Given the description of an element on the screen output the (x, y) to click on. 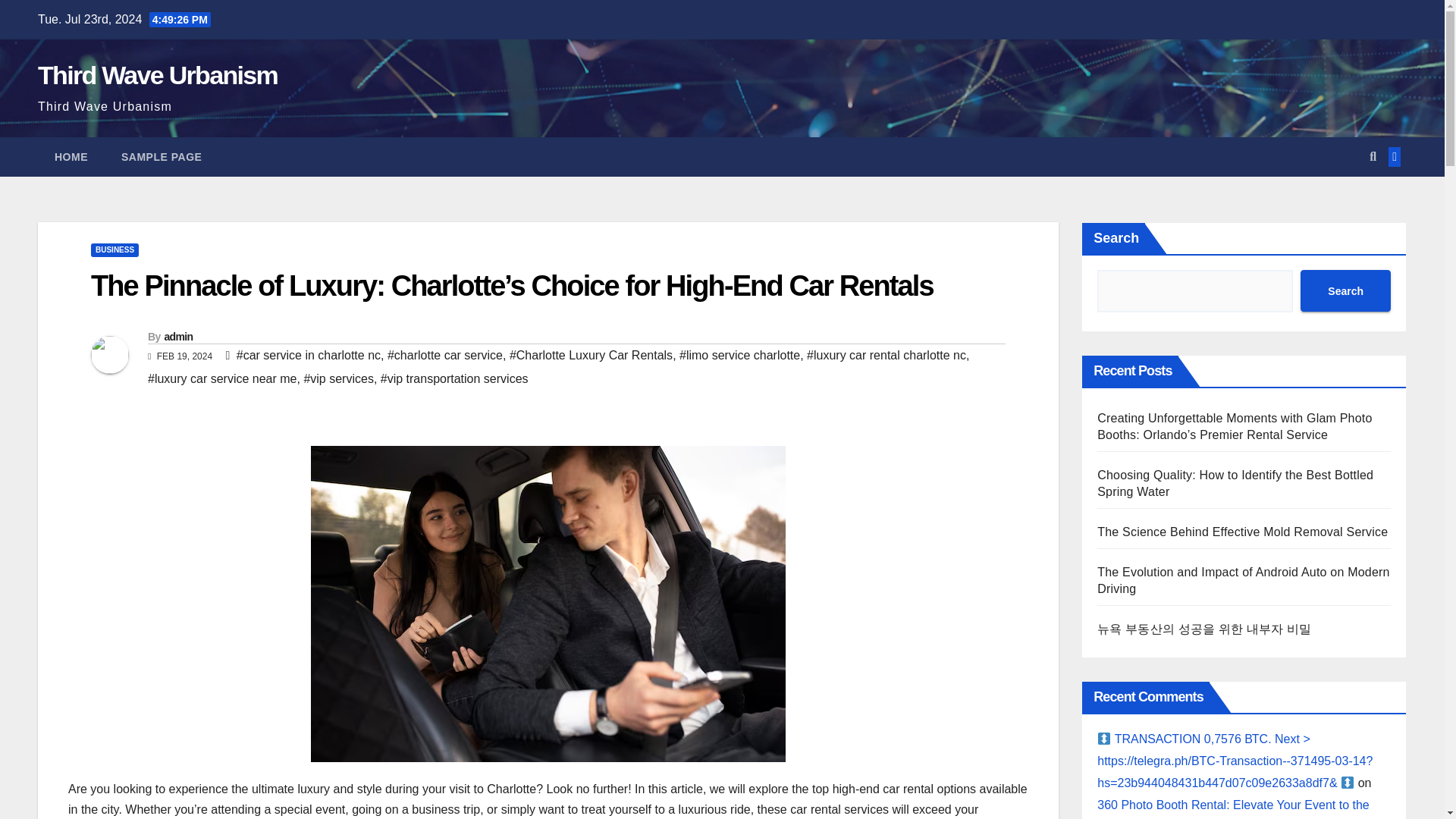
admin (177, 336)
BUSINESS (114, 250)
SAMPLE PAGE (161, 156)
Home (70, 156)
Third Wave Urbanism (157, 74)
HOME (70, 156)
